Given the description of an element on the screen output the (x, y) to click on. 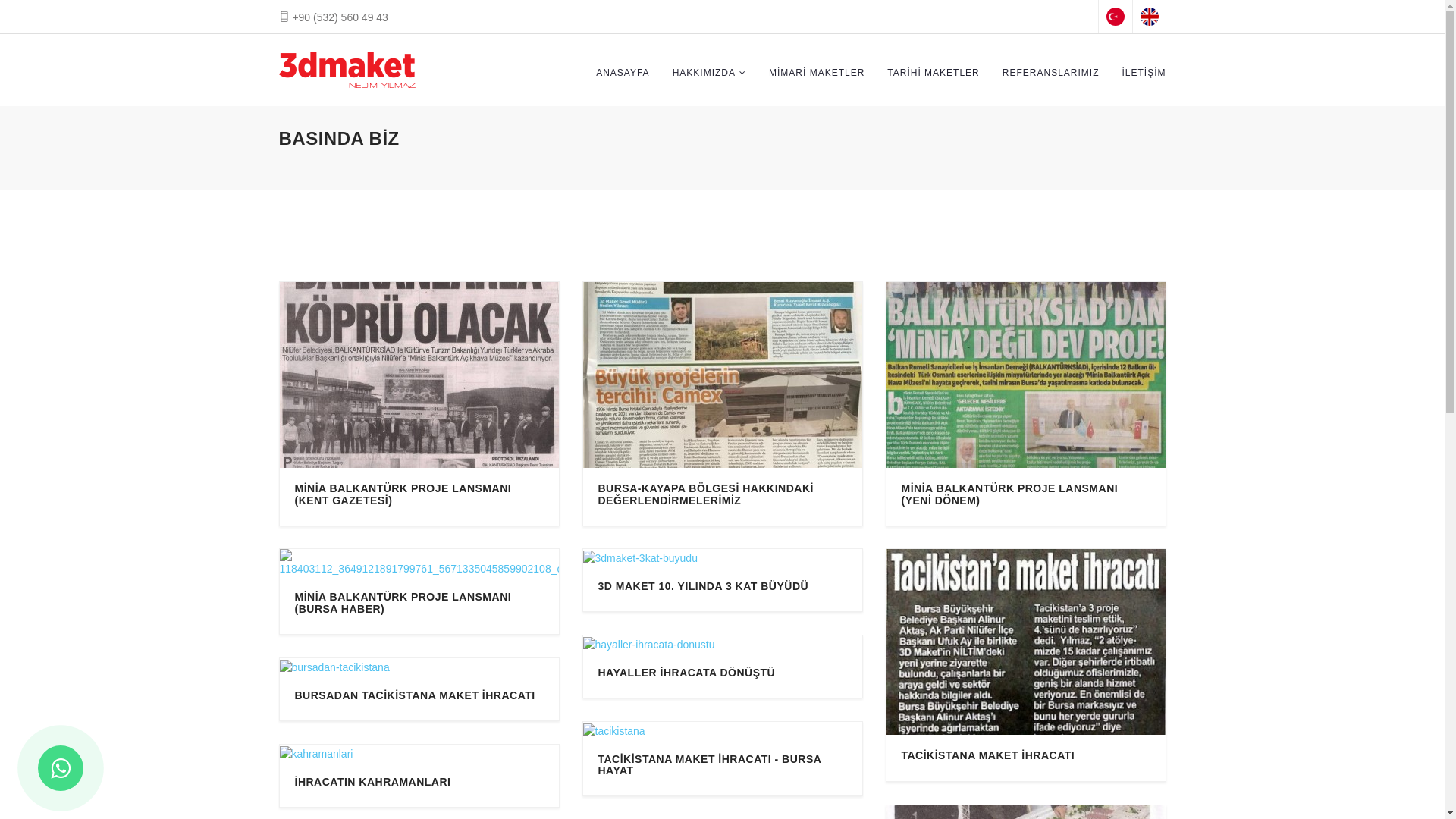
REFERANSLARIMIZ Element type: text (1050, 72)
HAKKIMIZDA Element type: text (709, 72)
ANASAYFA Element type: text (622, 72)
+90 (532) 560 49 43 Element type: text (333, 17)
